Given the description of an element on the screen output the (x, y) to click on. 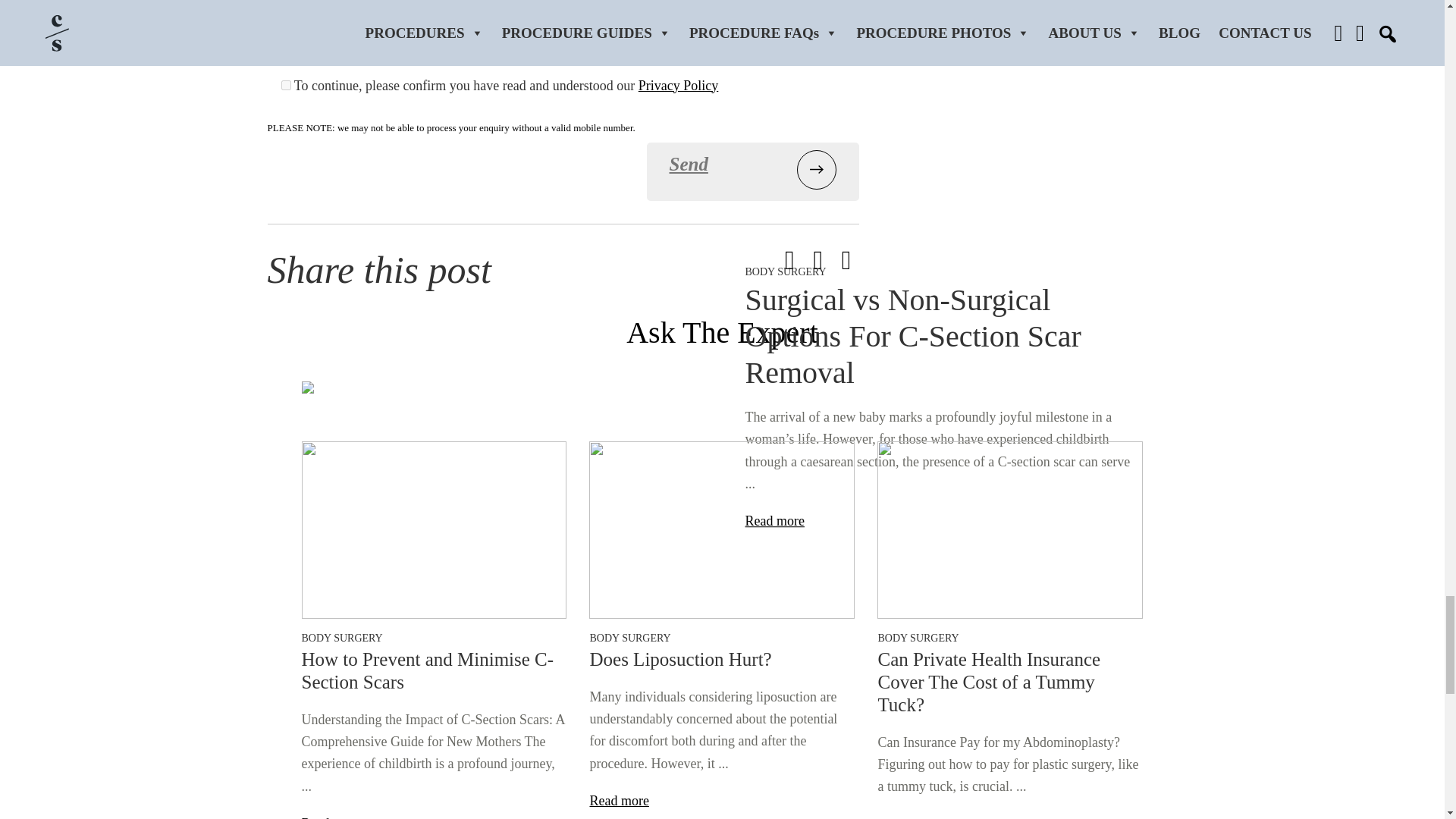
1 (285, 85)
Share on Facebook (817, 264)
Tweet this (789, 264)
1 (285, 40)
